Given the description of an element on the screen output the (x, y) to click on. 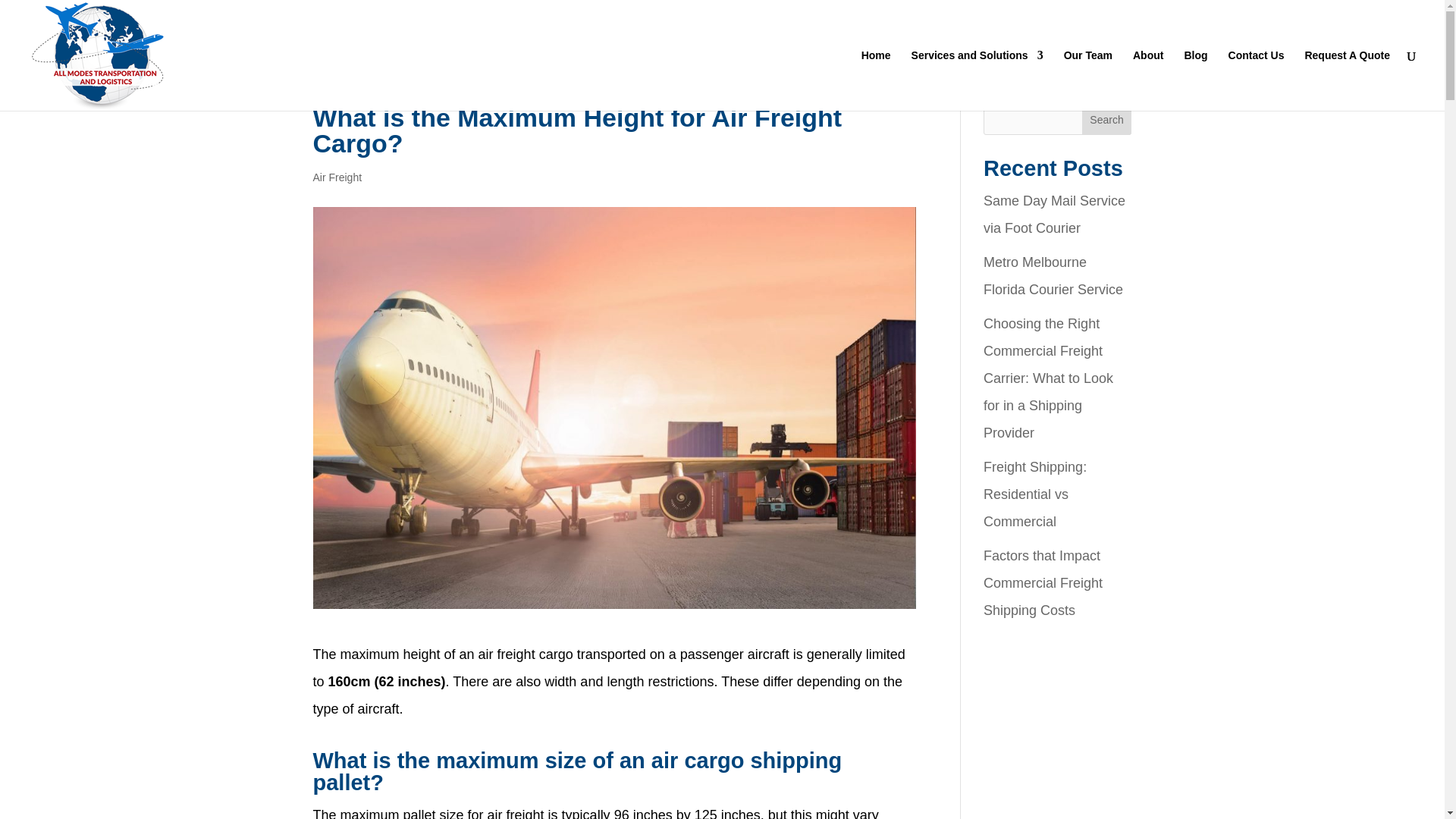
Same Day Mail Service via Foot Courier (1054, 214)
Services and Solutions (977, 79)
Contact Us (1256, 79)
Search (1106, 119)
Factors that Impact Commercial Freight Shipping Costs (1043, 582)
Request A Quote (1347, 79)
Air Freight (337, 177)
Freight Shipping: Residential vs Commercial (1035, 494)
Metro Melbourne Florida Courier Service (1053, 275)
